Given the description of an element on the screen output the (x, y) to click on. 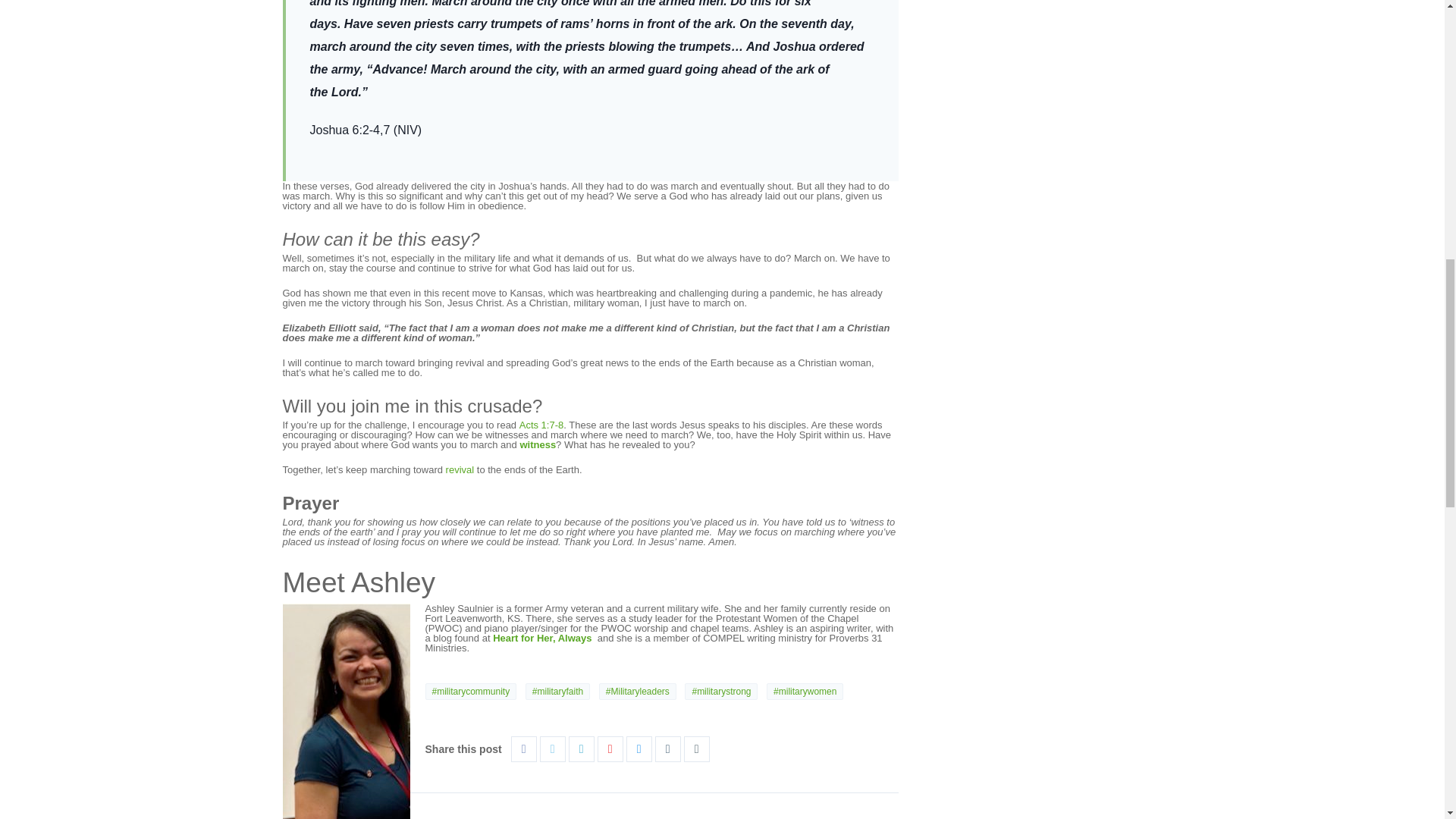
Share on Pinterest (610, 749)
Share on LinkedIn (581, 749)
Share on Reddit (638, 749)
Share on Tumblr (667, 749)
Share on Facebook (523, 749)
Share on WhatsApp (696, 749)
Share on Twitter (552, 749)
